Given the description of an element on the screen output the (x, y) to click on. 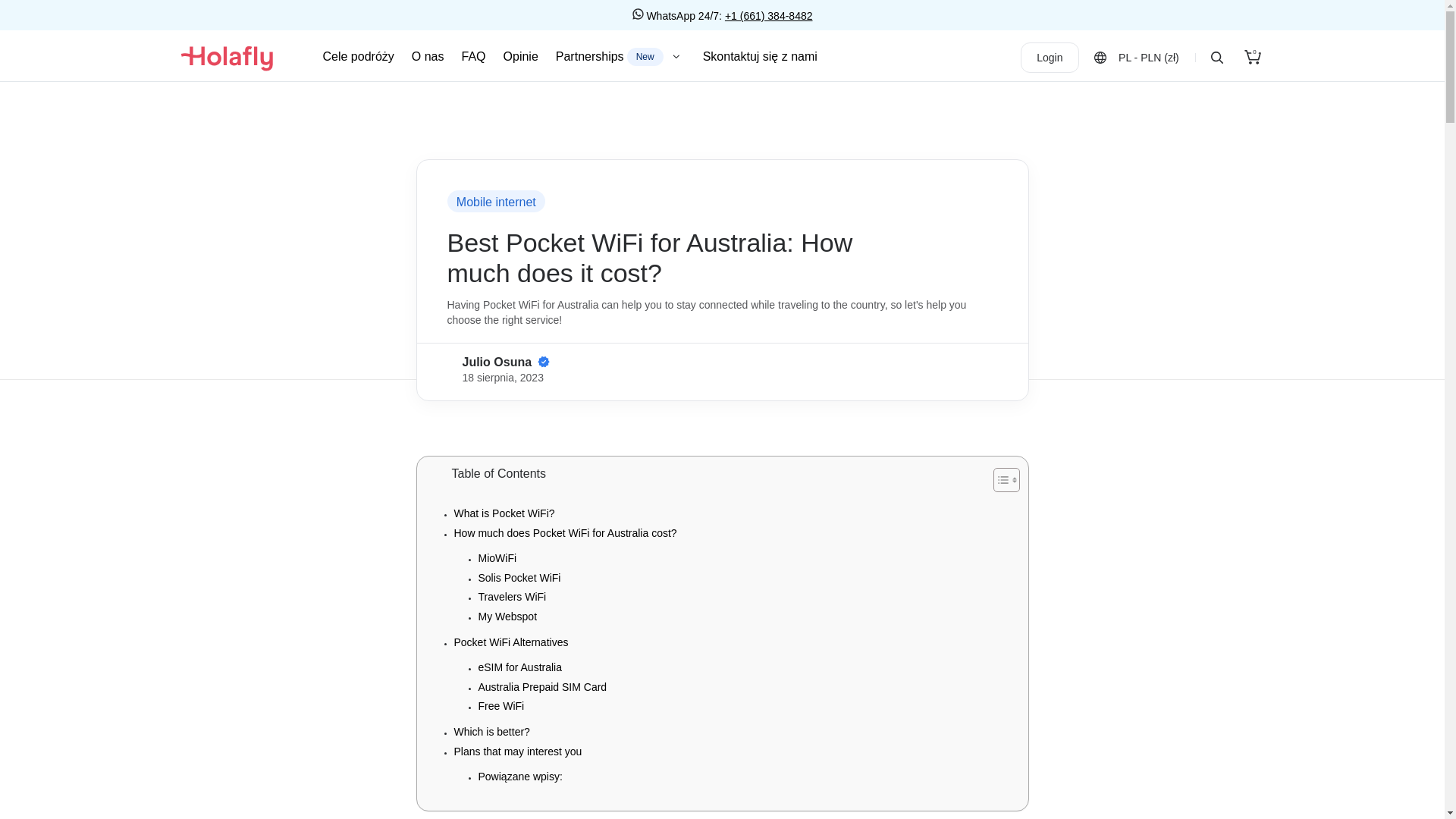
What is Pocket WiFi? (503, 512)
0 (620, 56)
My Webspot (1252, 57)
MioWiFi (507, 616)
Login (496, 558)
Pocket WiFi Alternatives (1049, 57)
Travelers WiFi (509, 642)
Which is better? (511, 596)
O nas (490, 731)
FAQ (428, 56)
Opinie (516, 751)
Free WiFi (472, 56)
